Given the description of an element on the screen output the (x, y) to click on. 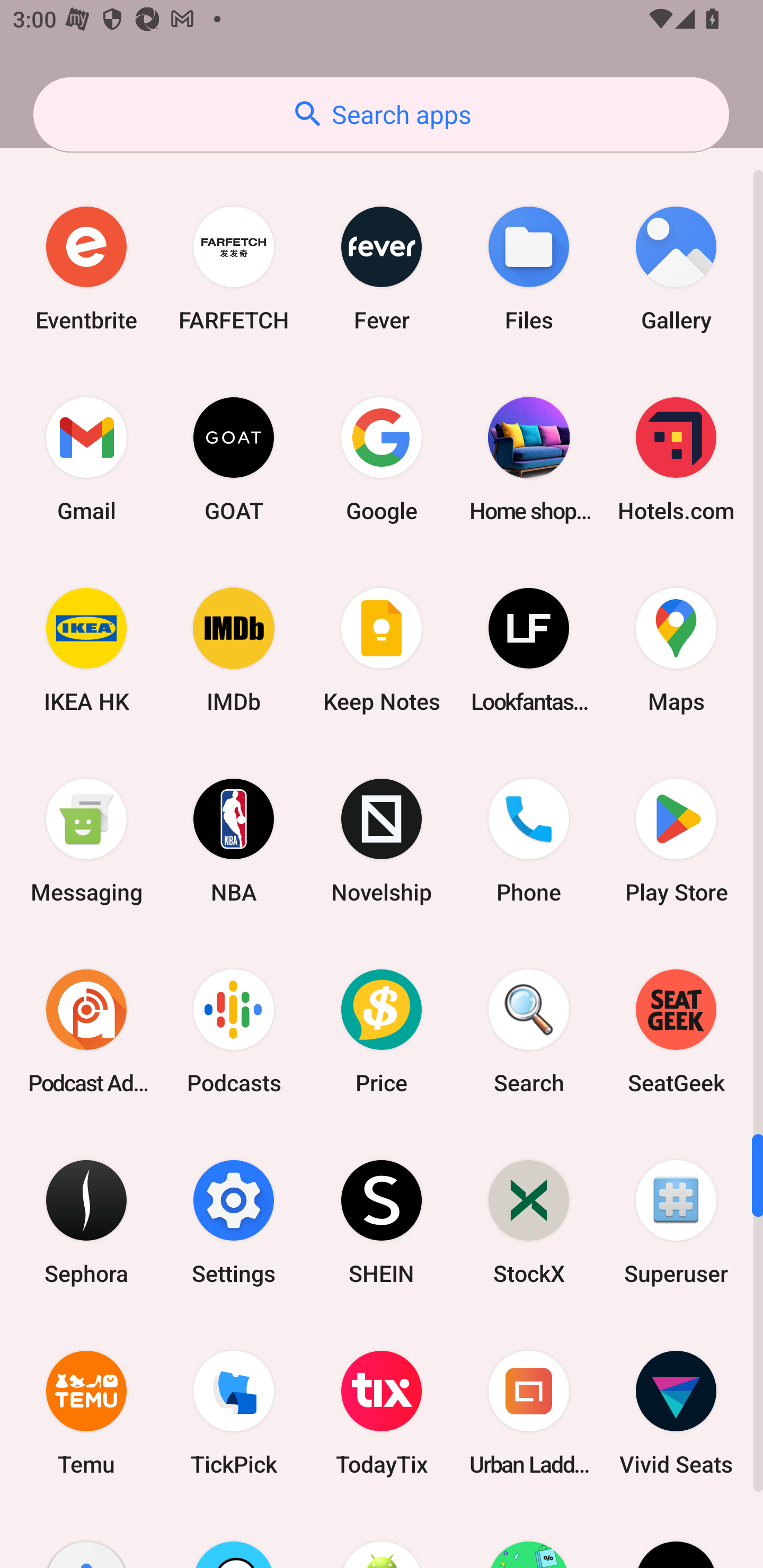
  Search apps (381, 114)
Eventbrite (86, 267)
FARFETCH (233, 267)
Fever (381, 267)
Files (528, 267)
Gallery (676, 267)
Gmail (86, 459)
GOAT (233, 459)
Google (381, 459)
Home shopping (528, 459)
Hotels.com (676, 459)
IKEA HK (86, 649)
IMDb (233, 649)
Keep Notes (381, 649)
Lookfantastic (528, 649)
Maps (676, 649)
Messaging (86, 840)
NBA (233, 840)
Novelship (381, 840)
Phone (528, 840)
Play Store (676, 840)
Podcast Addict (86, 1031)
Podcasts (233, 1031)
Price (381, 1031)
Search (528, 1031)
SeatGeek (676, 1031)
Sephora (86, 1222)
Settings (233, 1222)
SHEIN (381, 1222)
StockX (528, 1222)
Superuser (676, 1222)
Temu (86, 1412)
TickPick (233, 1412)
TodayTix (381, 1412)
Urban Ladder (528, 1412)
Vivid Seats (676, 1412)
